Given the description of an element on the screen output the (x, y) to click on. 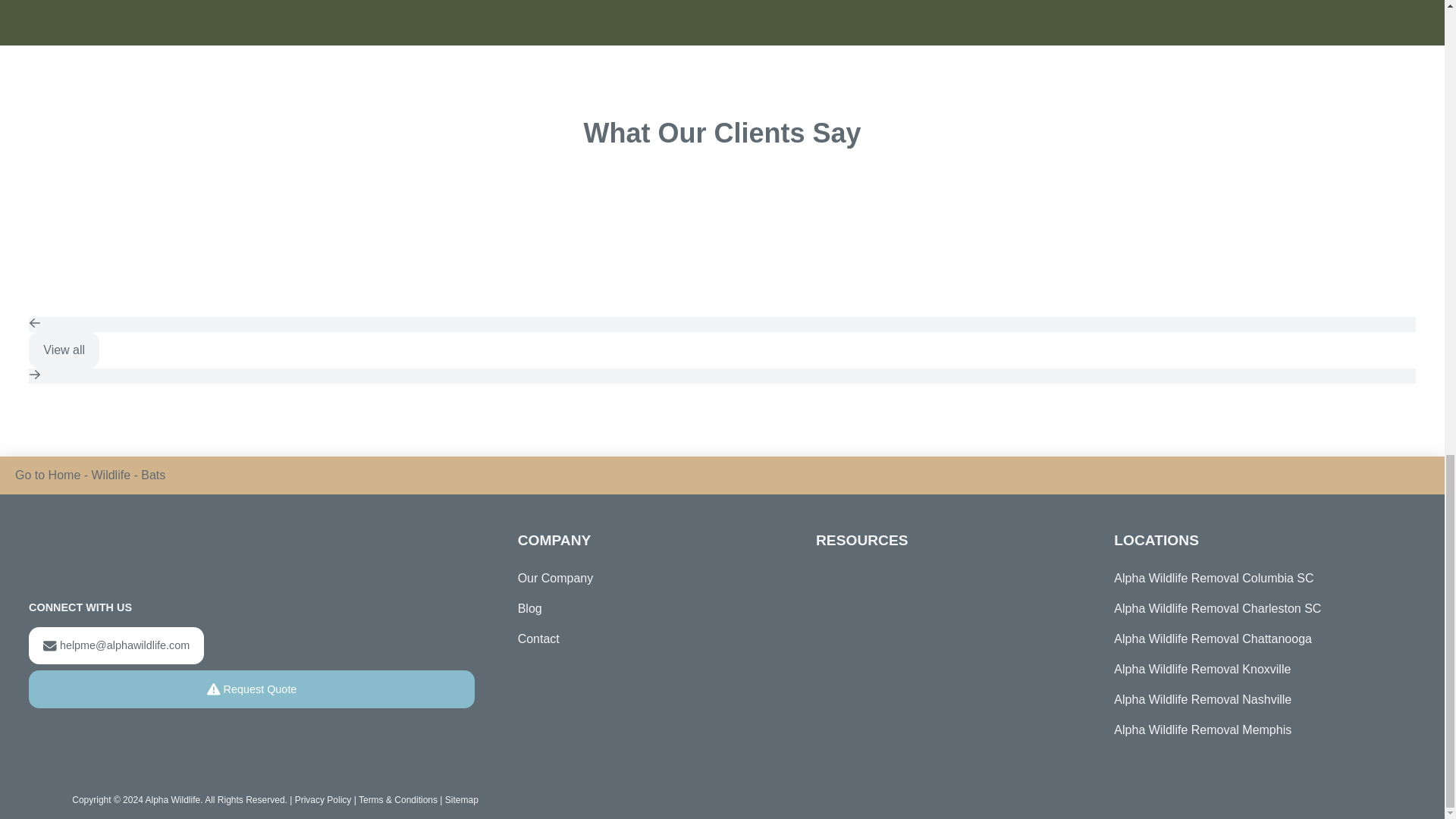
Home (64, 474)
Wildlife (110, 474)
Alpha Wildlife Removal Knoxville (1254, 669)
Alpha Wildlife Removal Columbia SC (1254, 578)
Privacy Policy (323, 799)
Alpha Wildlife Removal Chattanooga (1254, 639)
Our Company (556, 578)
Alpha Wildlife Removal Memphis (1254, 729)
Alpha Wildlife Removal Nashville (1254, 699)
View all (64, 350)
